Given the description of an element on the screen output the (x, y) to click on. 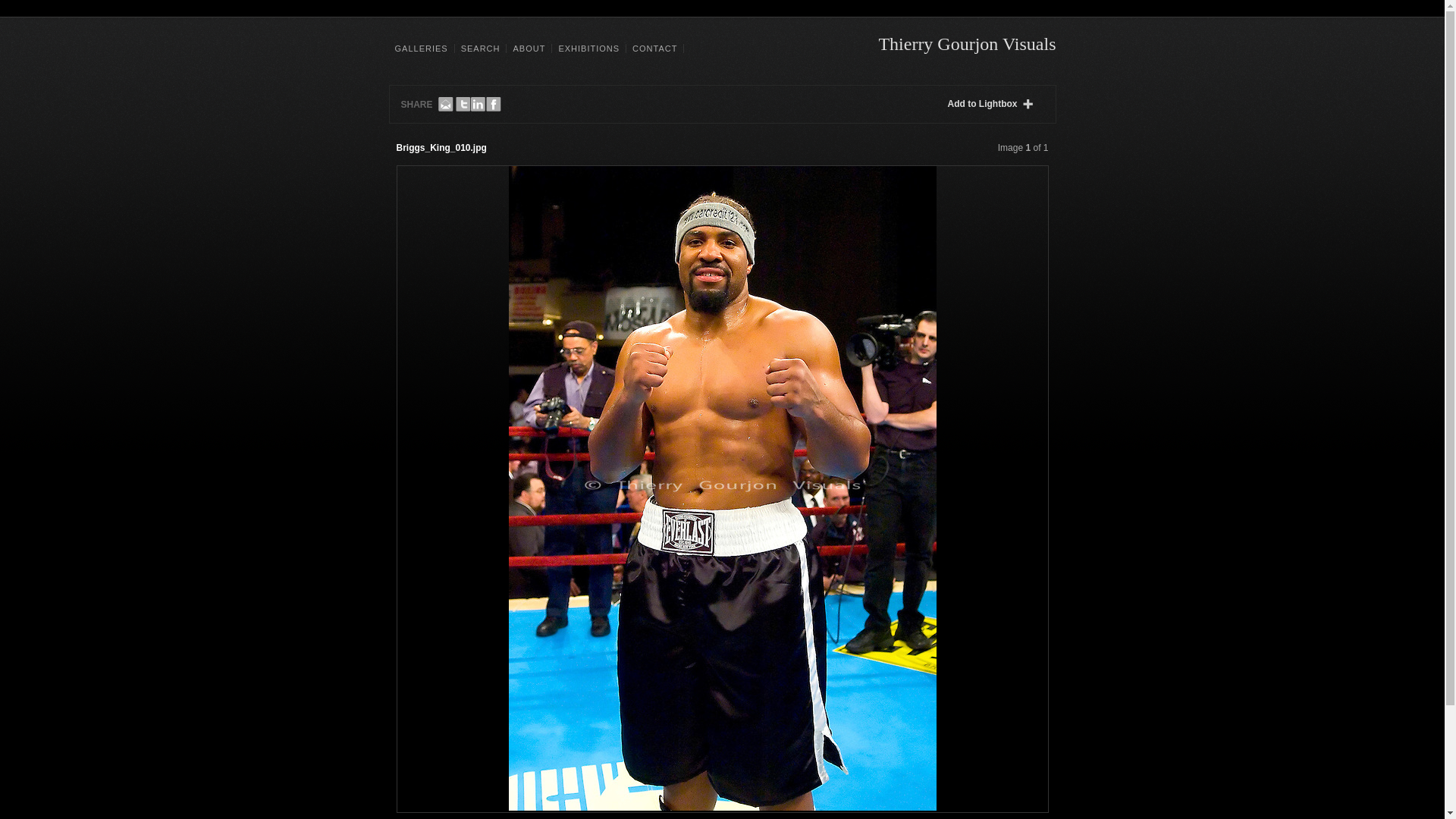
Add to Lightbox (994, 104)
Email to a Friend (445, 105)
ABOUT (528, 48)
GALLERIES (421, 48)
EXHIBITIONS (588, 48)
Thierry Gourjon Visuals (966, 44)
SEARCH (480, 48)
CONTACT (654, 48)
